Given the description of an element on the screen output the (x, y) to click on. 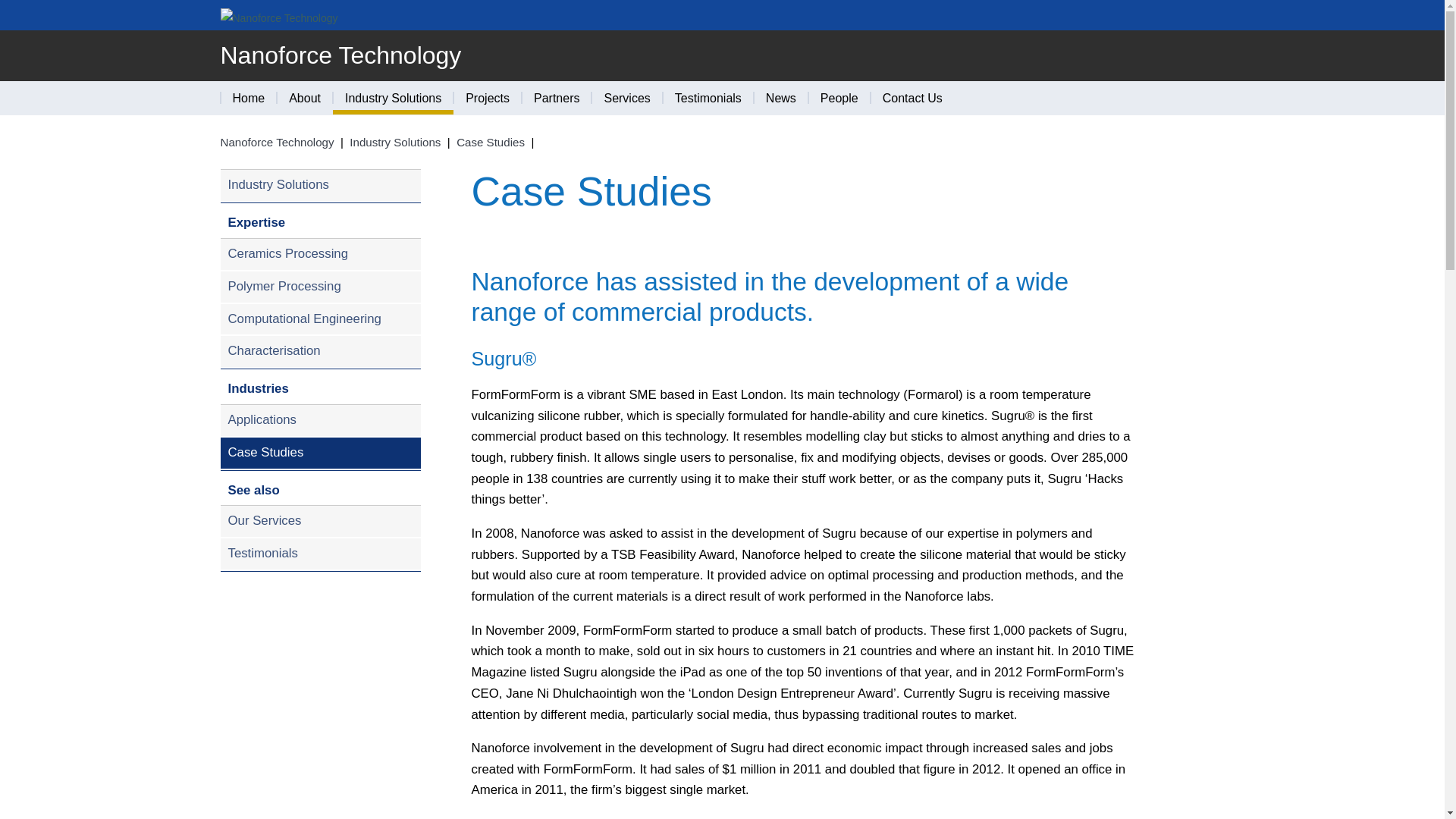
Case Studies (490, 141)
Partners (556, 98)
Industry Solutions (392, 98)
People (839, 98)
Testimonials (708, 98)
Our Services (320, 521)
Nanoforce Technology (340, 54)
News (781, 98)
Projects (486, 98)
Computational Engineering (320, 319)
